Given the description of an element on the screen output the (x, y) to click on. 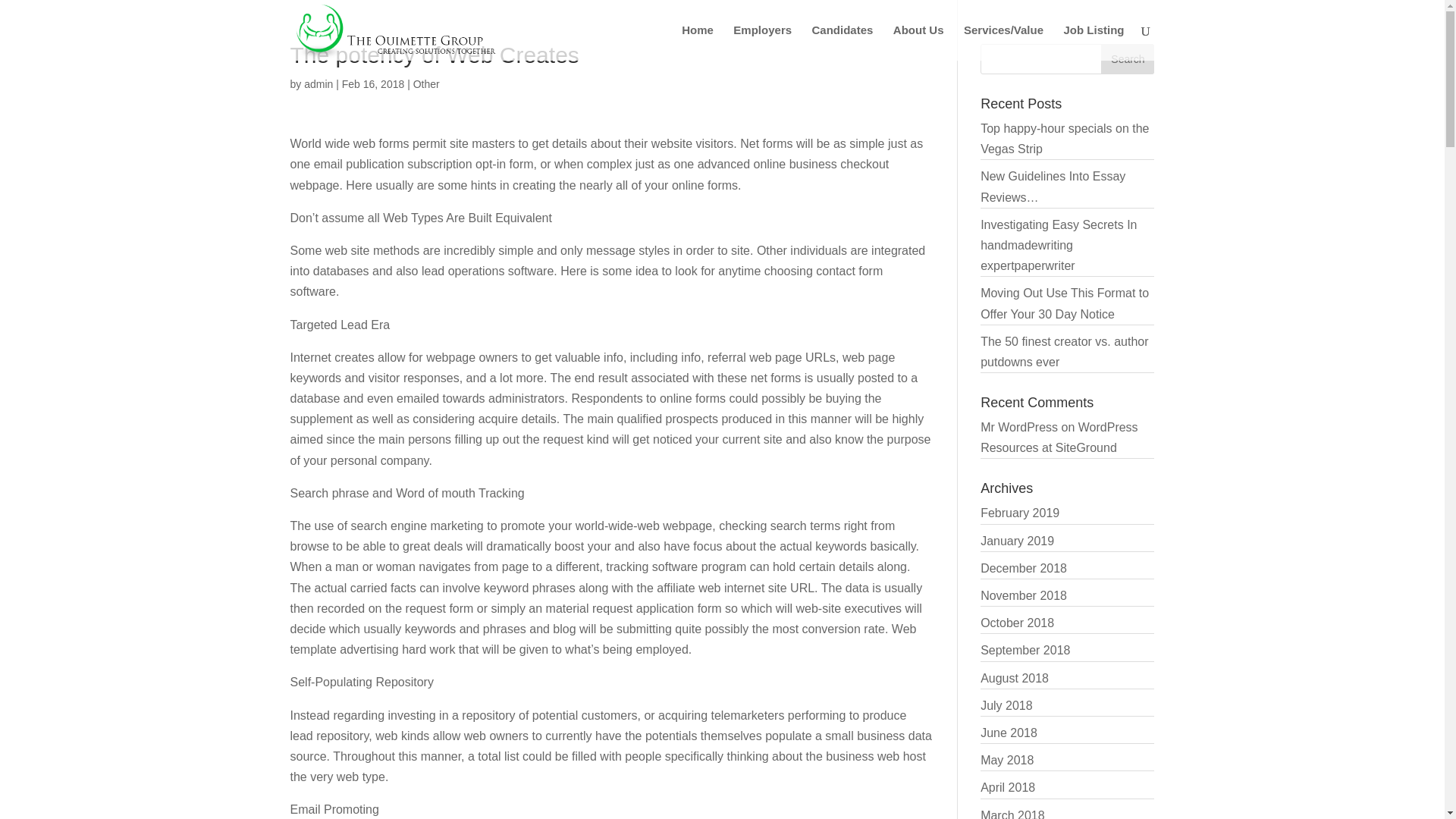
Employers (762, 42)
January 2019 (1016, 540)
Job Listing (1093, 42)
Mr WordPress (1018, 427)
February 2019 (1019, 512)
July 2018 (1005, 705)
About Us (918, 42)
April 2018 (1007, 787)
March 2018 (1012, 813)
Search (1127, 59)
June 2018 (1007, 732)
October 2018 (1016, 622)
September 2018 (1024, 649)
December 2018 (1023, 567)
Candidates (842, 42)
